Given the description of an element on the screen output the (x, y) to click on. 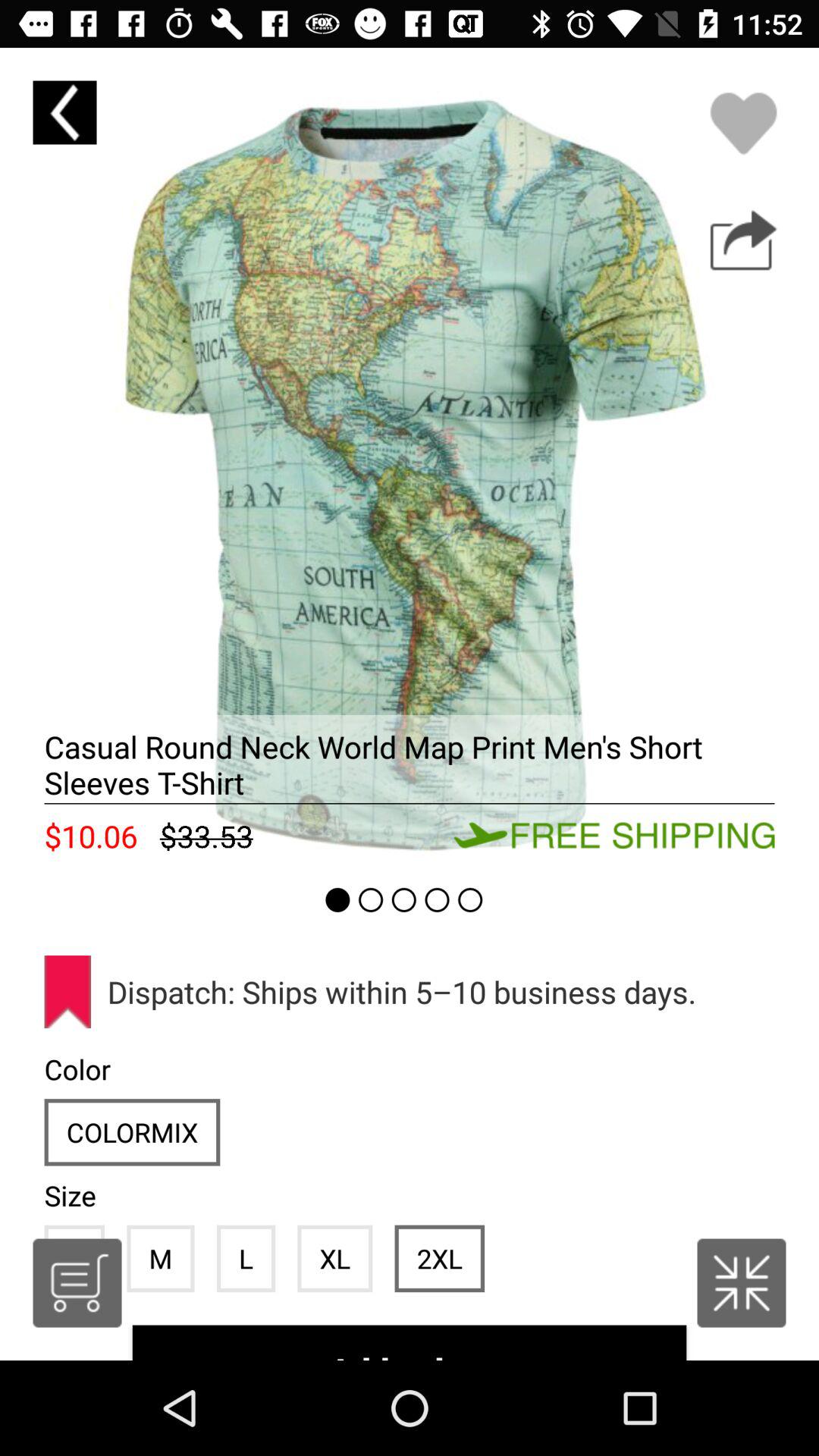
open shopping cart (76, 1282)
